Given the description of an element on the screen output the (x, y) to click on. 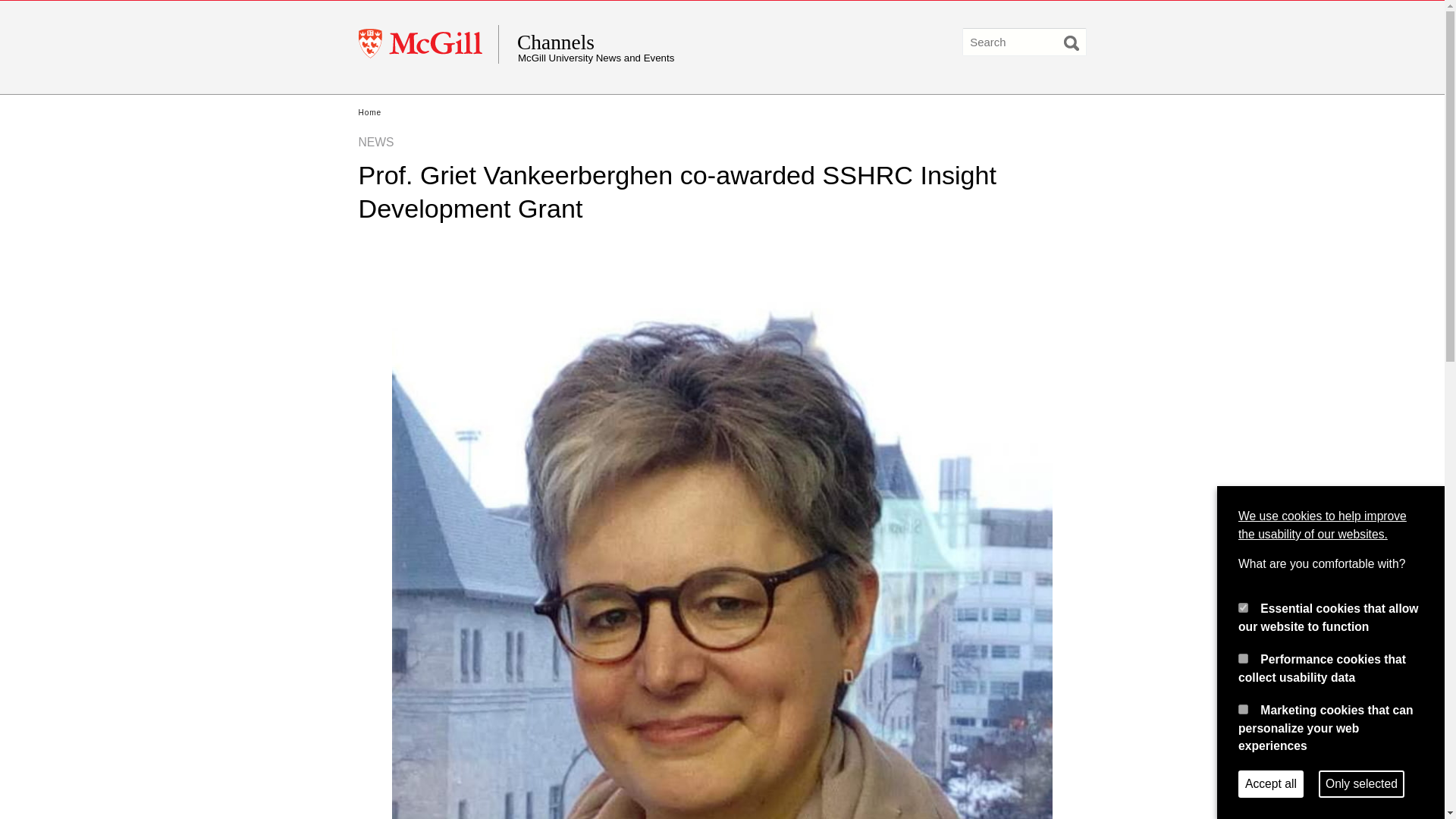
Search (1070, 42)
marketing (1243, 709)
Only selected (1362, 783)
performance (1243, 658)
Channels (664, 42)
return to McGill University (427, 44)
Accept all (1271, 783)
Search (1070, 42)
McGill University (427, 44)
Home (369, 112)
required (1243, 607)
